Given the description of an element on the screen output the (x, y) to click on. 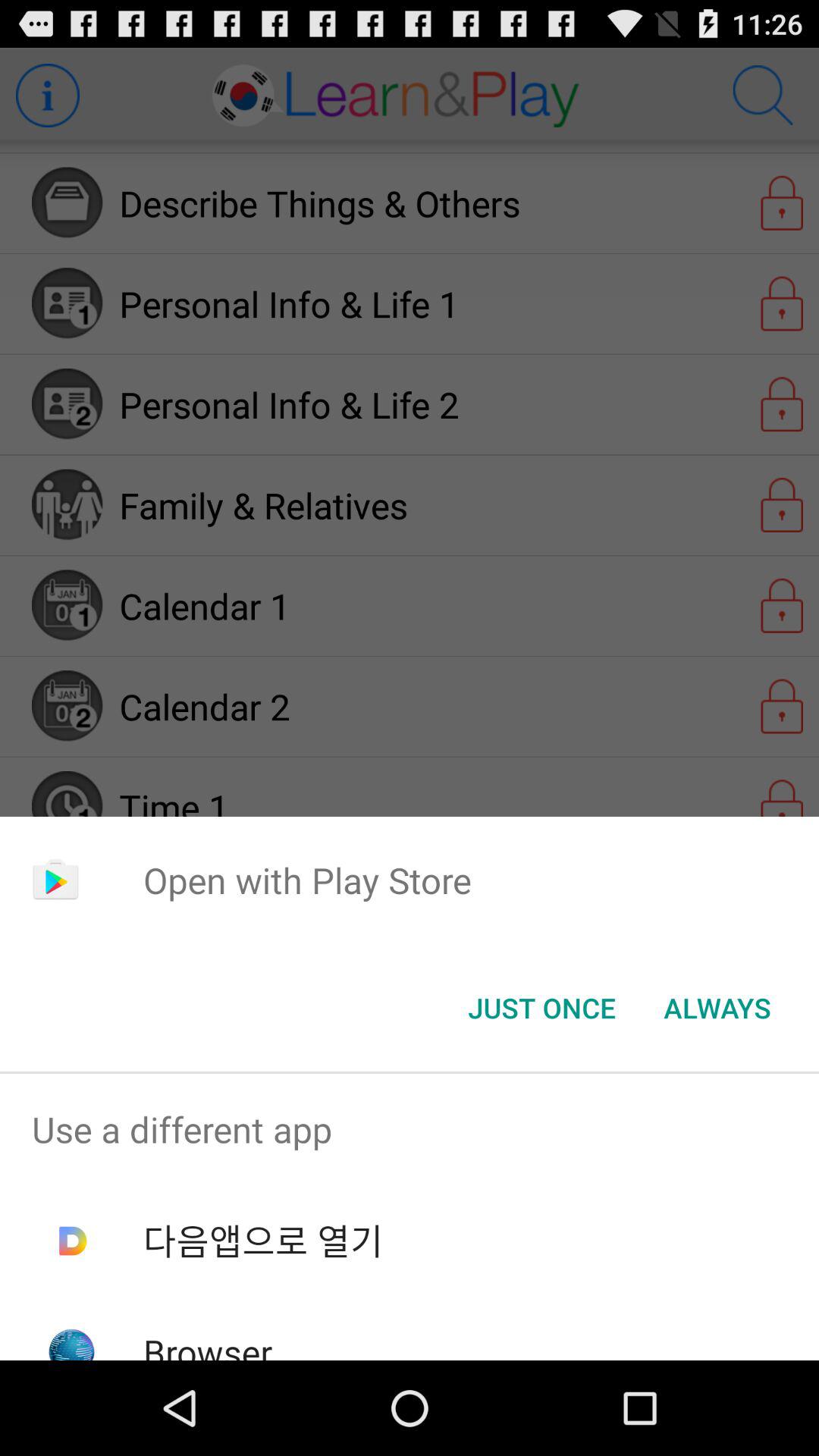
click the item below open with play (541, 1007)
